Given the description of an element on the screen output the (x, y) to click on. 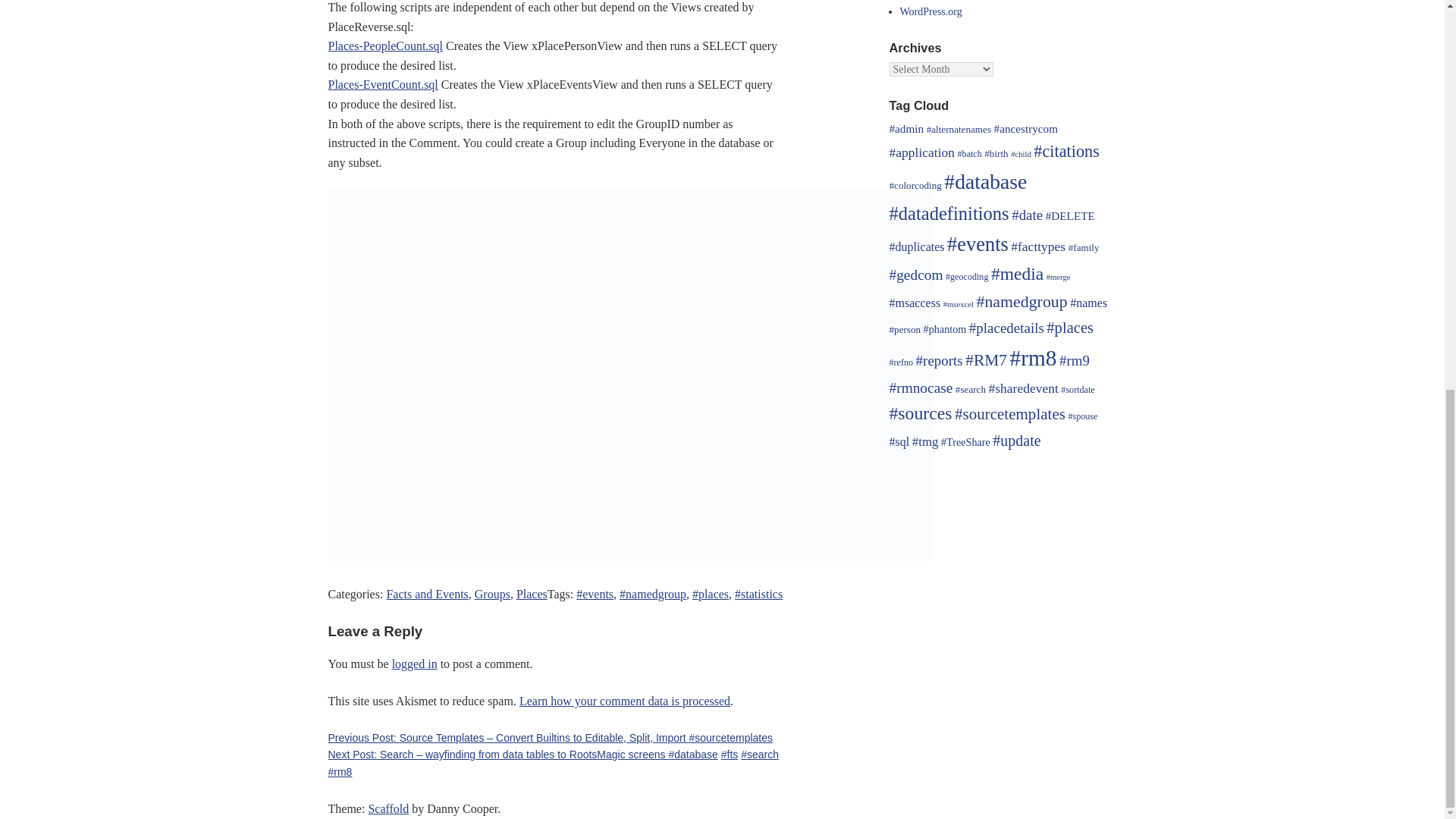
Facts and Events (426, 594)
Places-PeopleCount.sql (384, 45)
Places (531, 594)
Places-EventCount.sql (382, 83)
Groups (492, 594)
